Given the description of an element on the screen output the (x, y) to click on. 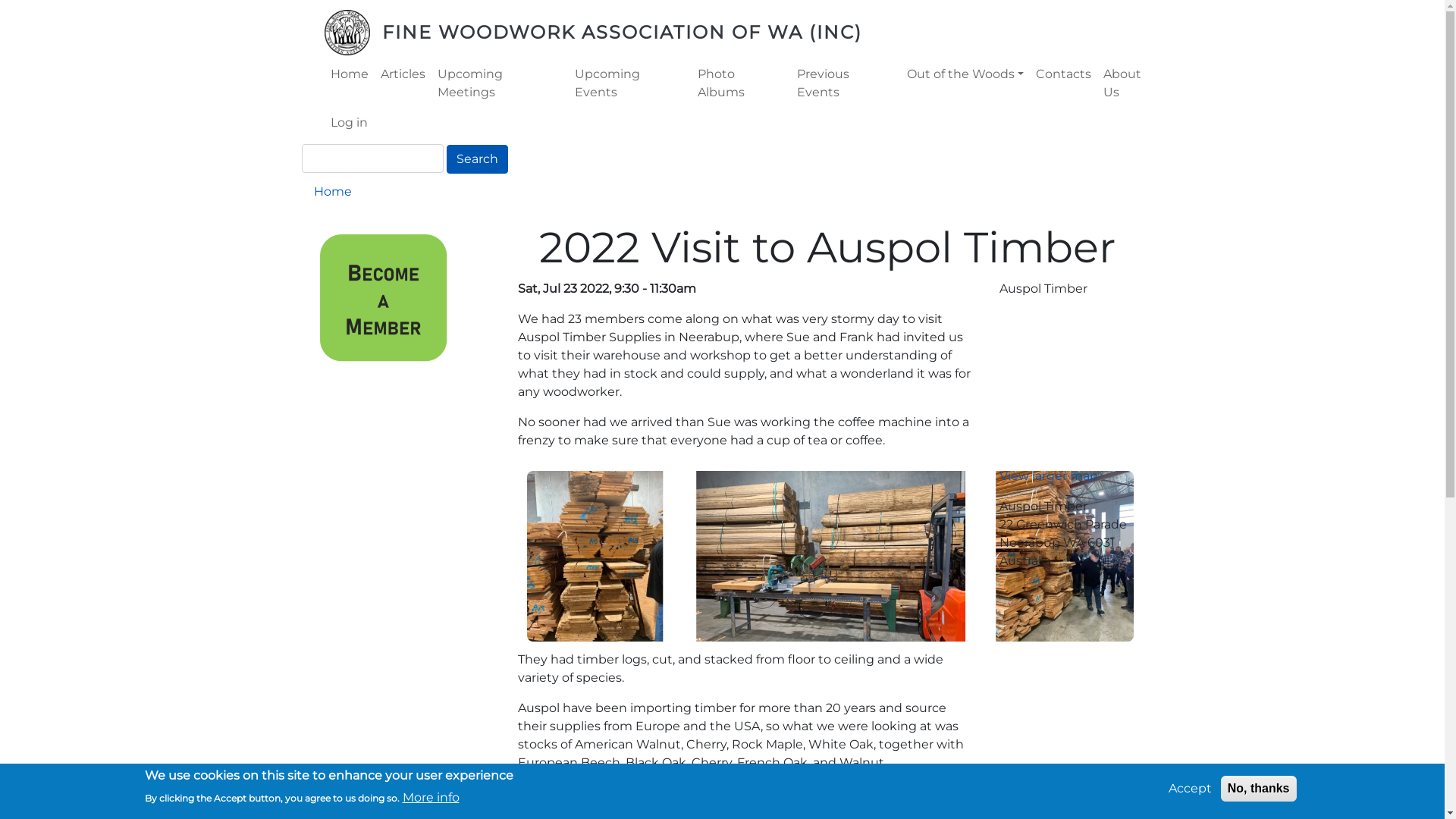
Previous Events Element type: text (845, 83)
Skip to main content Element type: text (0, 0)
Out of the Woods Element type: text (964, 74)
More info Element type: text (429, 796)
About Us Element type: text (1131, 83)
Accept Element type: text (1189, 788)
Photo Albums Element type: text (740, 83)
Search Element type: text (476, 158)
No, thanks Element type: text (1258, 788)
Enter the terms you wish to search for. Element type: hover (372, 158)
Articles Element type: text (402, 74)
Upcoming Meetings Element type: text (499, 83)
Upcoming Events Element type: text (629, 83)
View larger map Element type: text (1048, 475)
FINE WOODWORK ASSOCIATION OF WA (INC) Element type: text (622, 32)
Home Element type: text (349, 74)
Contacts Element type: text (1063, 74)
Log in Element type: text (348, 122)
Home Element type: hover (353, 32)
Home Element type: text (332, 191)
